Given the description of an element on the screen output the (x, y) to click on. 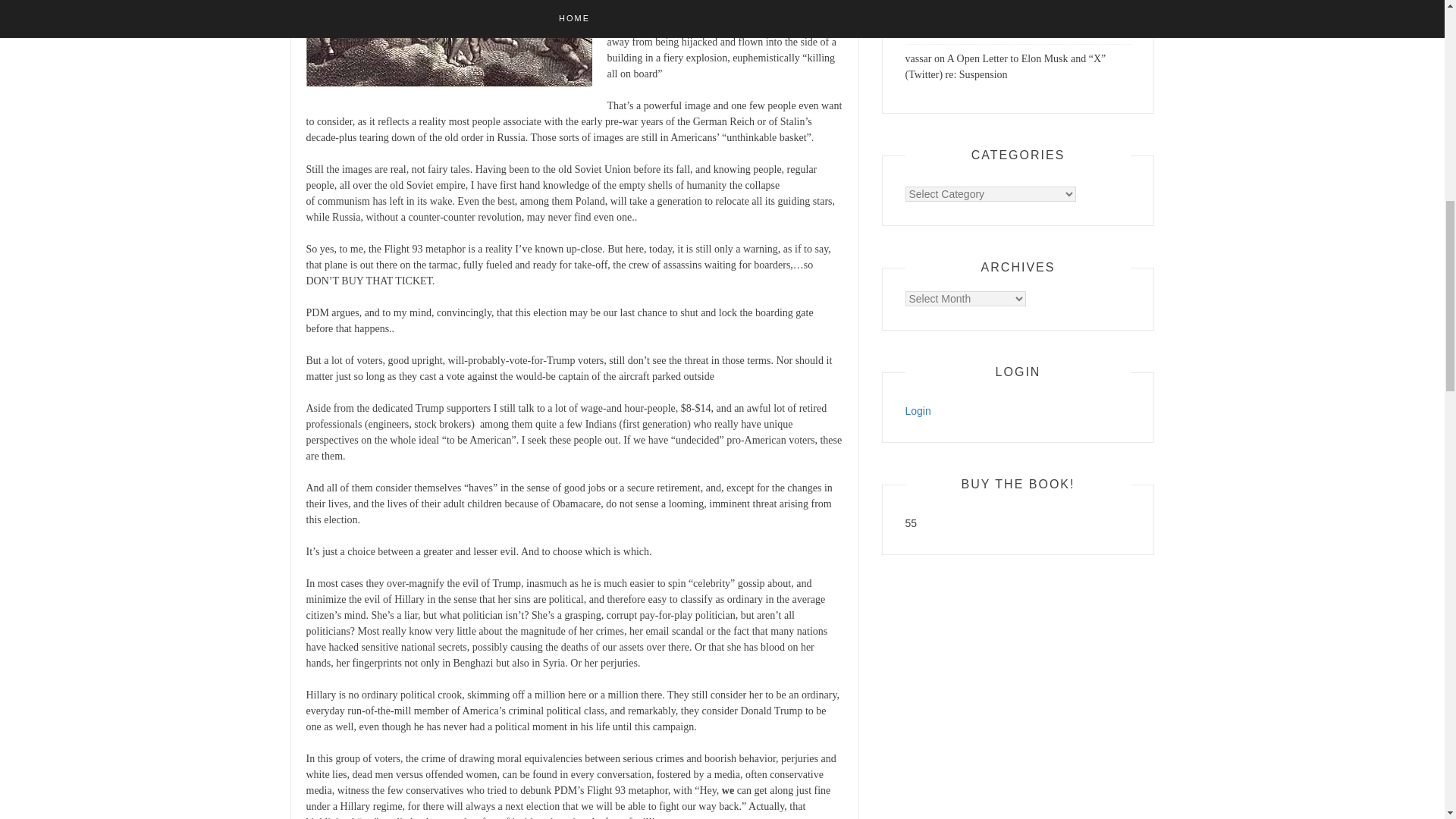
Login (918, 410)
